Given the description of an element on the screen output the (x, y) to click on. 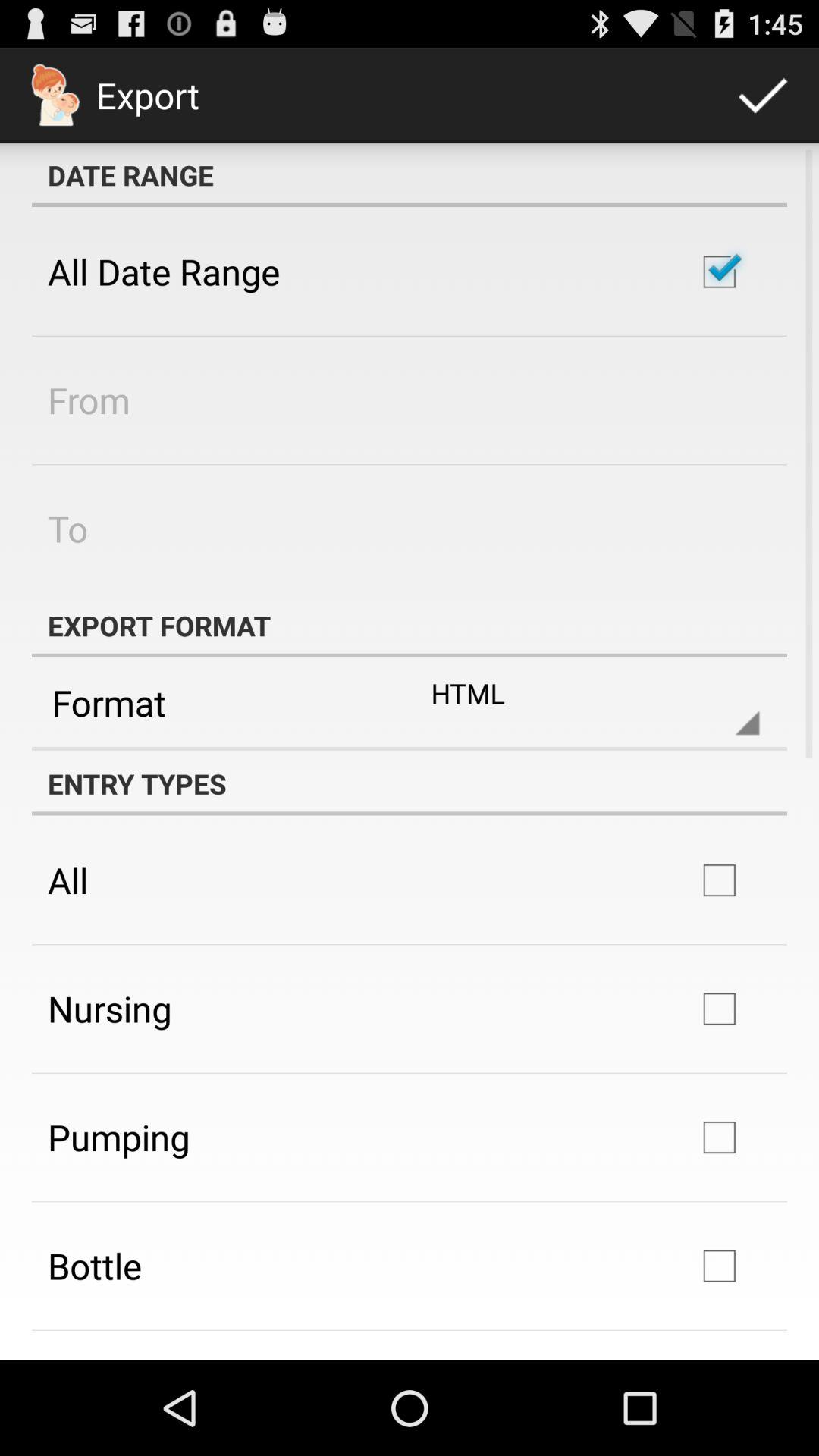
launch icon next to format (583, 702)
